Given the description of an element on the screen output the (x, y) to click on. 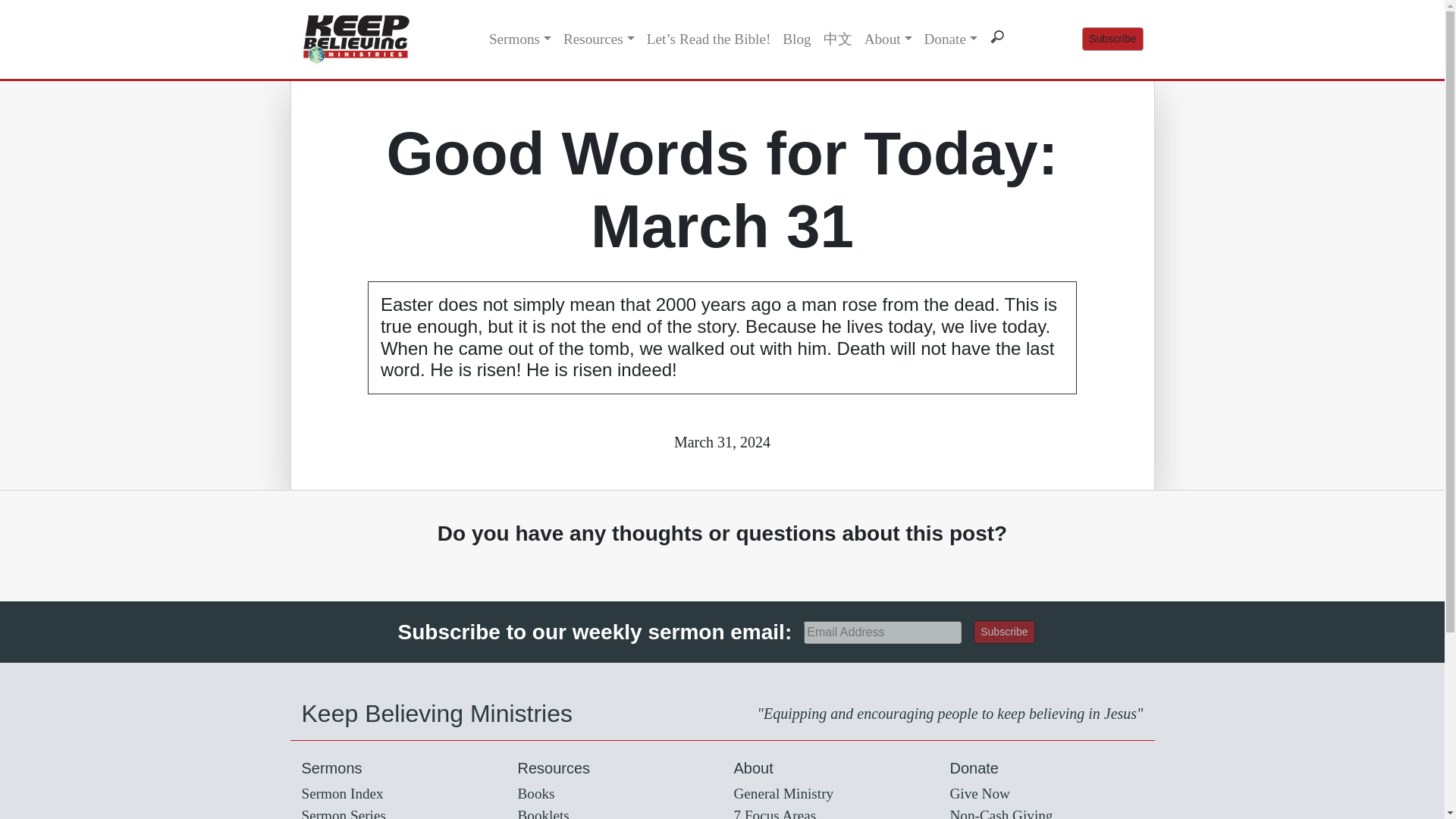
Blog (796, 39)
Blog (796, 39)
Sermon Index (342, 793)
About (888, 39)
Subscribe (1003, 631)
Donate (949, 39)
Resources (598, 39)
Sermons (520, 39)
Resources (598, 39)
Sermons (520, 39)
